Given the description of an element on the screen output the (x, y) to click on. 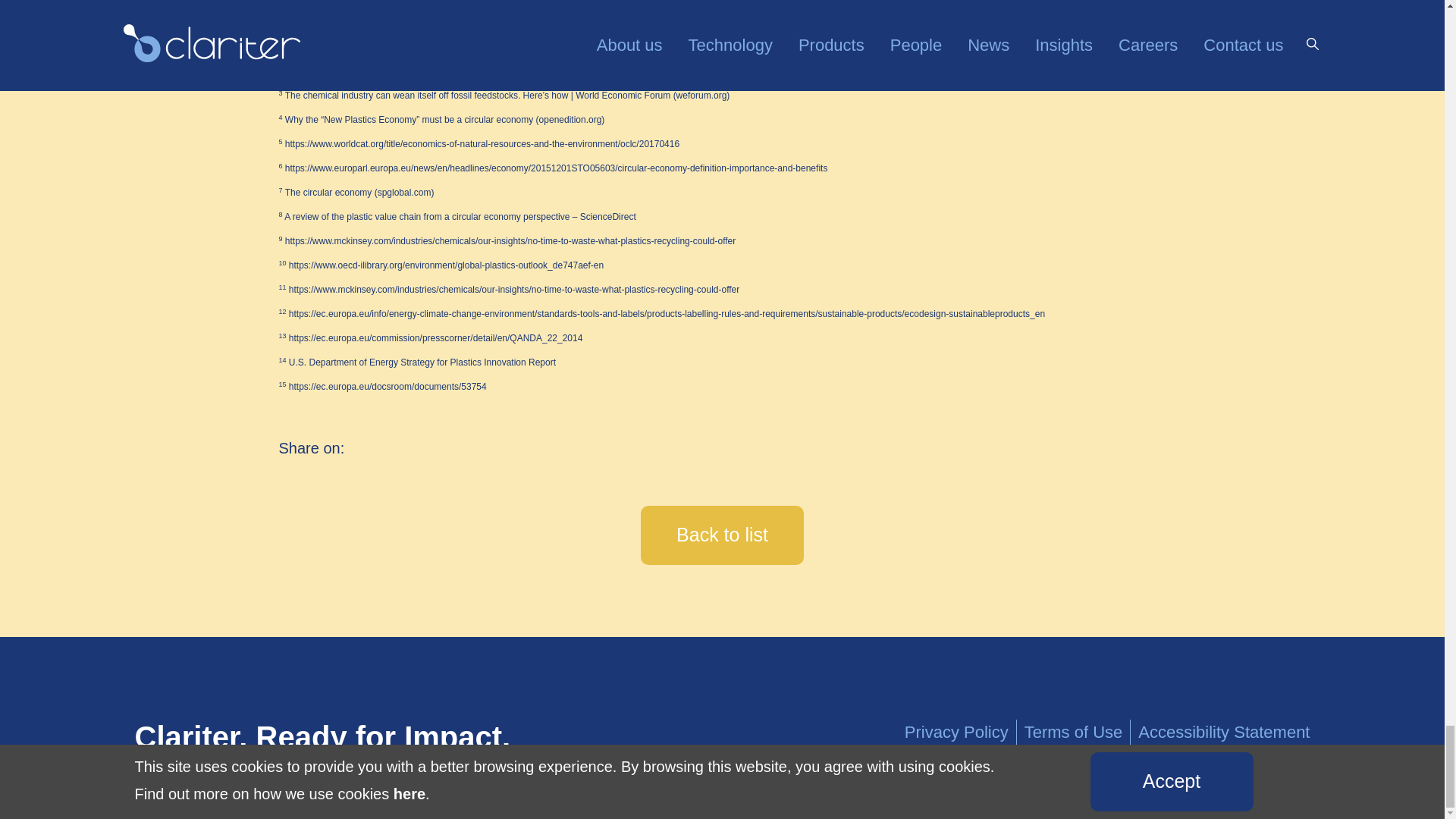
Back to list (721, 535)
Terms of Use (1073, 731)
Accessibility Statement (1219, 731)
Privacy Policy (960, 731)
